Given the description of an element on the screen output the (x, y) to click on. 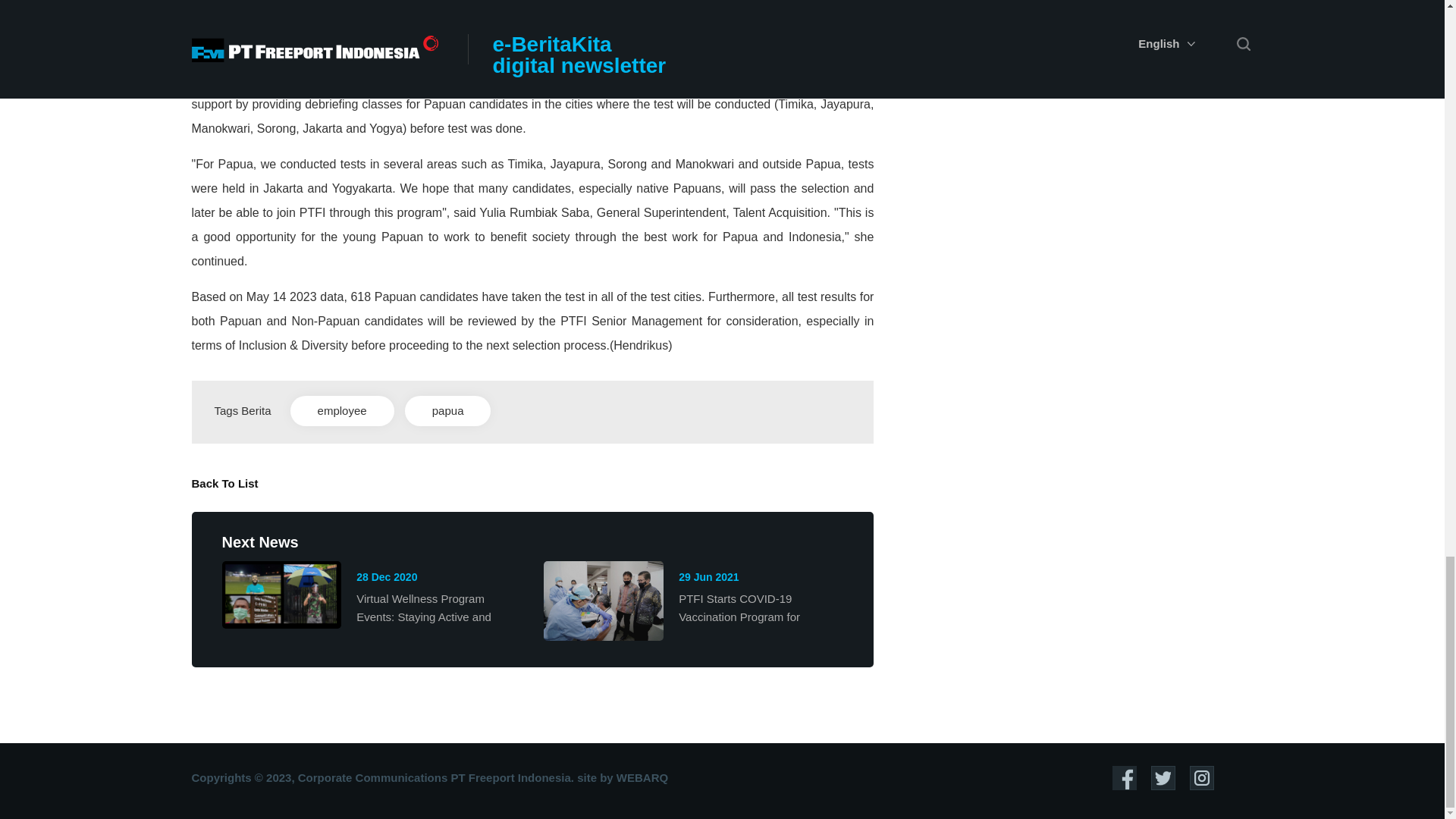
WEBARQ (641, 777)
Back To List (223, 482)
employee (341, 410)
papua (448, 410)
